Given the description of an element on the screen output the (x, y) to click on. 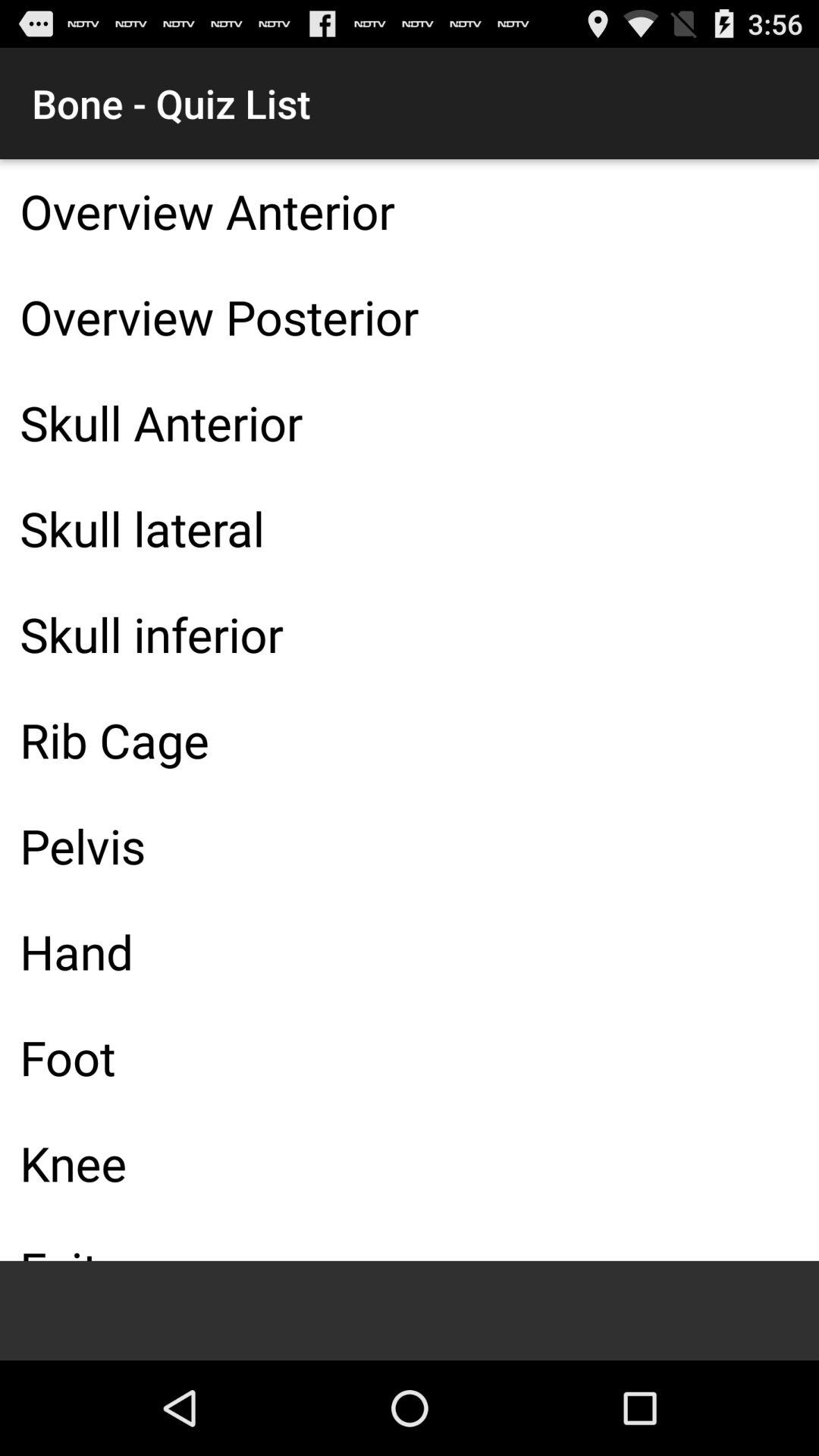
open app below pelvis icon (409, 951)
